Given the description of an element on the screen output the (x, y) to click on. 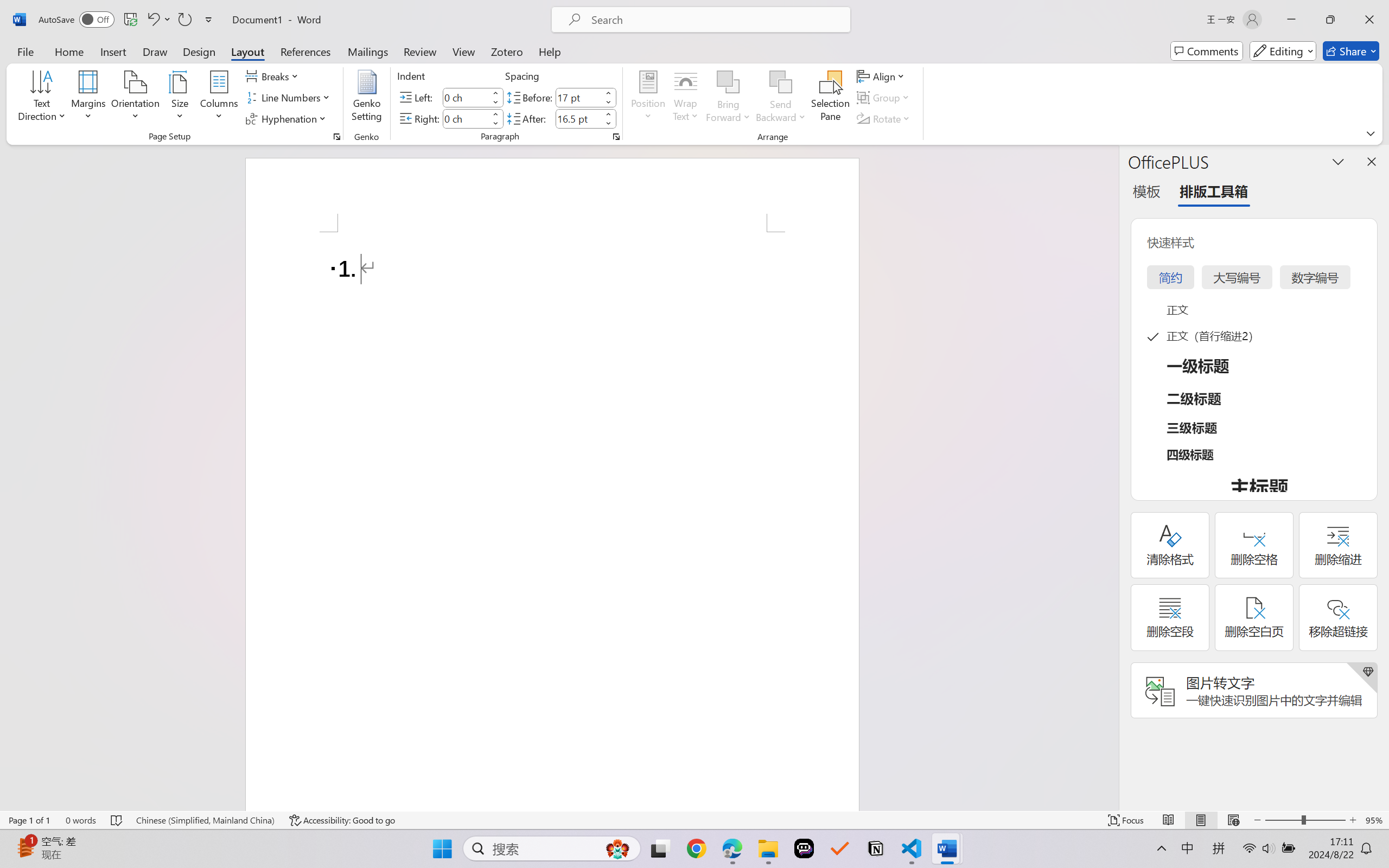
Align (881, 75)
Microsoft search (715, 19)
Indent Left (465, 96)
Text Direction (42, 97)
